Given the description of an element on the screen output the (x, y) to click on. 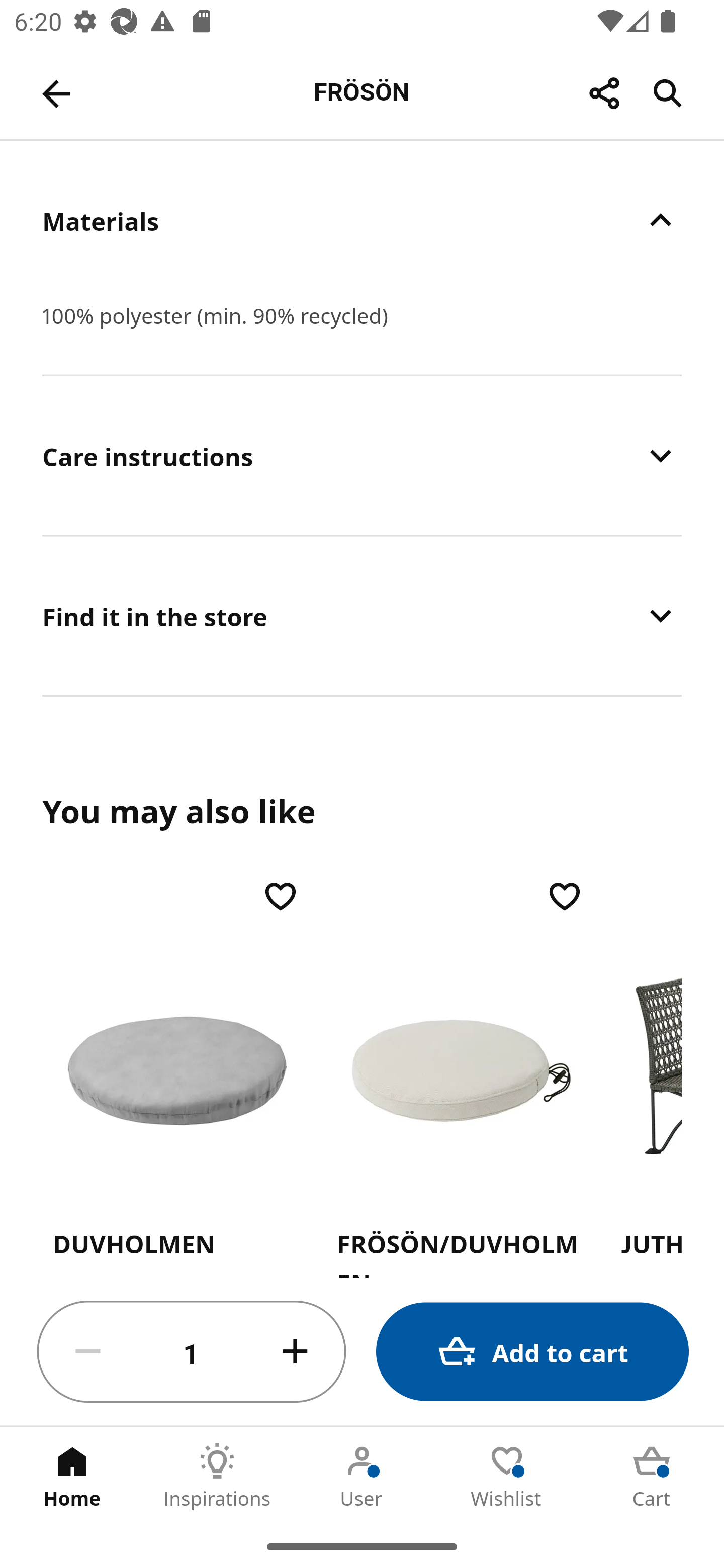
Materials (361, 219)
Care instructions (361, 455)
Find it in the store (361, 615)
Add to cart (531, 1352)
1 (191, 1352)
Home
Tab 1 of 5 (72, 1476)
Inspirations
Tab 2 of 5 (216, 1476)
User
Tab 3 of 5 (361, 1476)
Wishlist
Tab 4 of 5 (506, 1476)
Cart
Tab 5 of 5 (651, 1476)
